Given the description of an element on the screen output the (x, y) to click on. 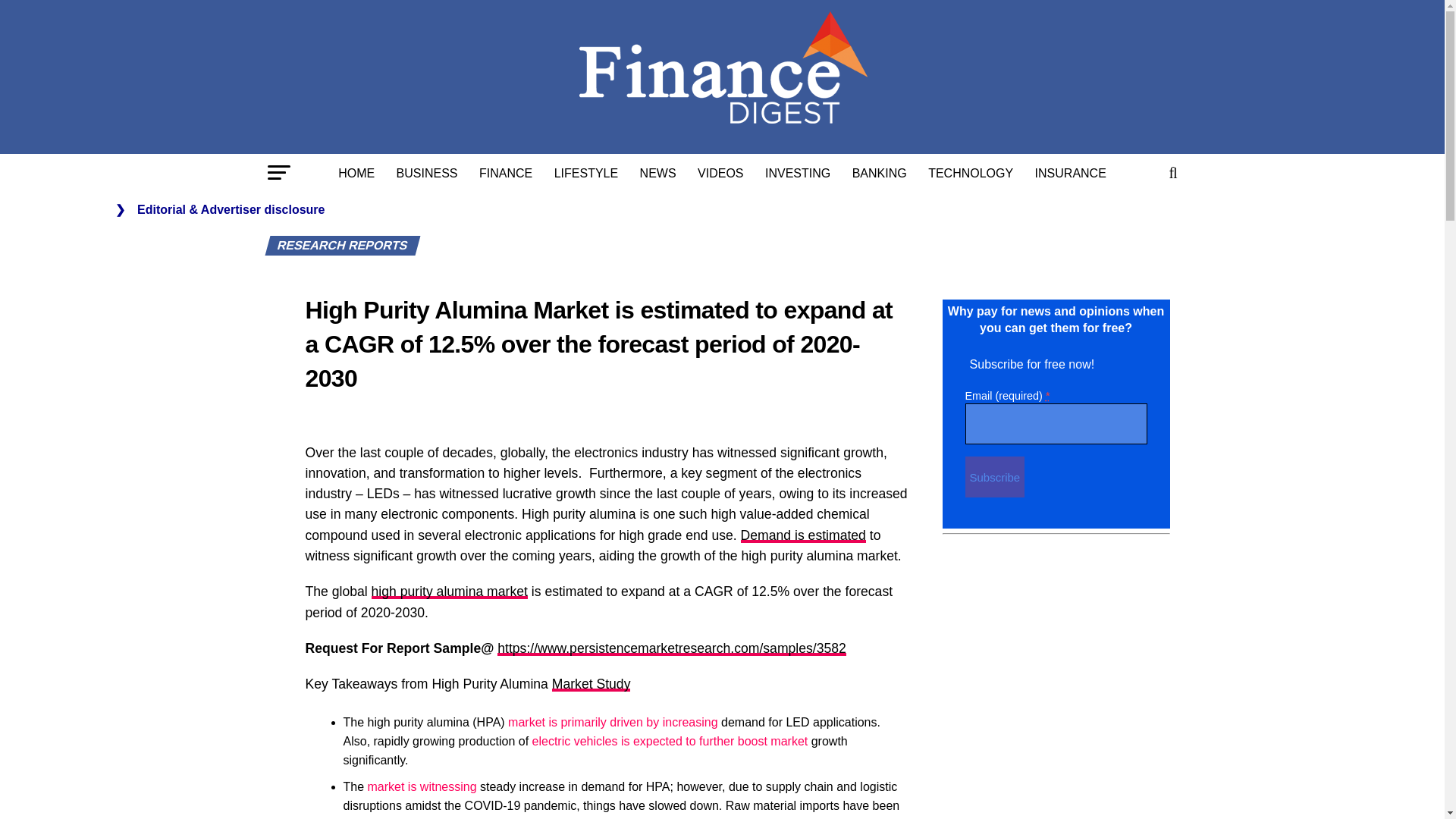
NEWS (657, 173)
Business (427, 173)
LIFESTYLE (585, 173)
BUSINESS (427, 173)
HOME (356, 173)
VIDEOS (720, 173)
Finance (505, 173)
Lifestyle (585, 173)
Subscribe (994, 476)
News (657, 173)
Home (356, 173)
FINANCE (505, 173)
